Given the description of an element on the screen output the (x, y) to click on. 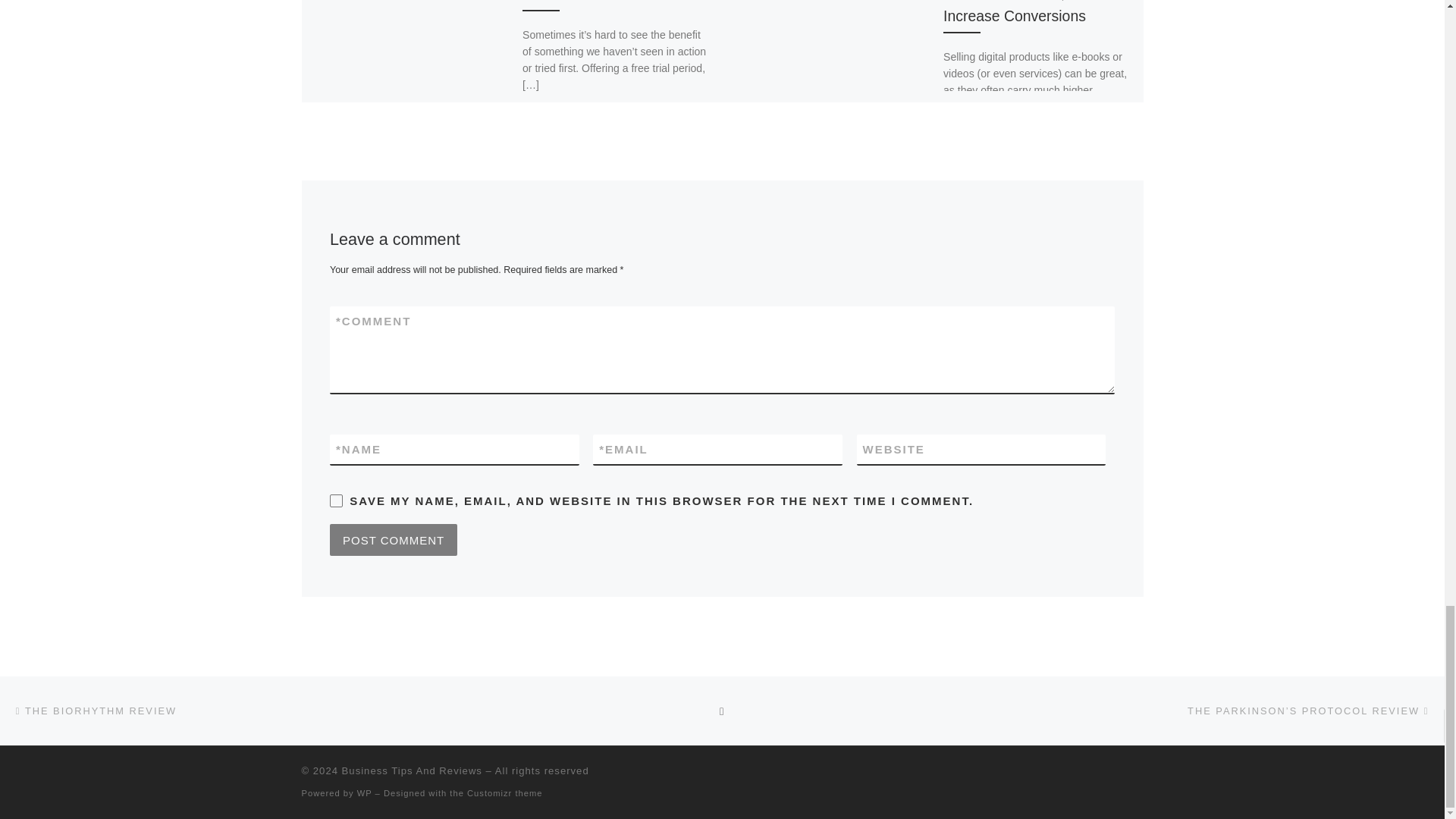
Post Comment (393, 540)
yes (336, 500)
